Given the description of an element on the screen output the (x, y) to click on. 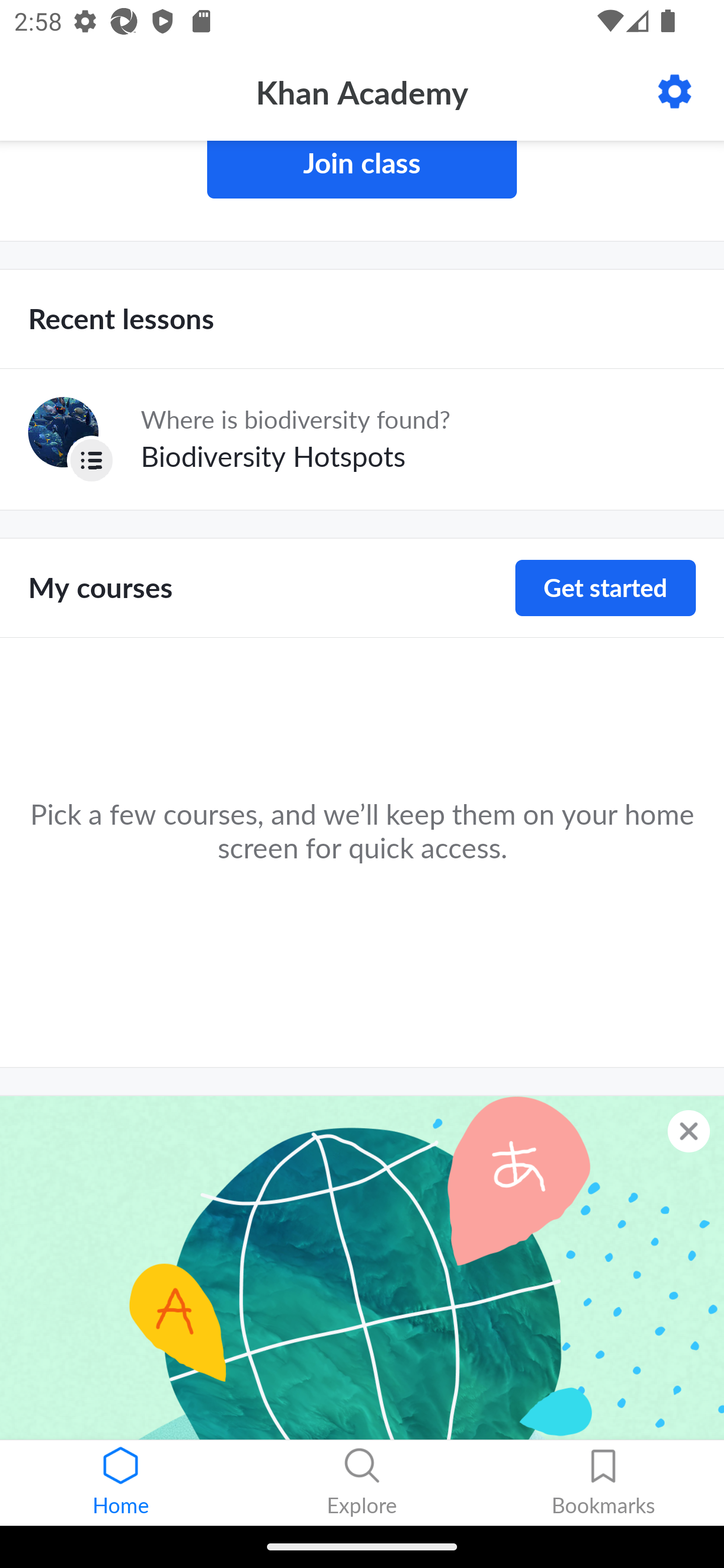
Settings (674, 91)
Join class (361, 170)
Get started (605, 587)
Dismiss (688, 1131)
Home (120, 1482)
Explore (361, 1482)
Bookmarks (603, 1482)
